Given the description of an element on the screen output the (x, y) to click on. 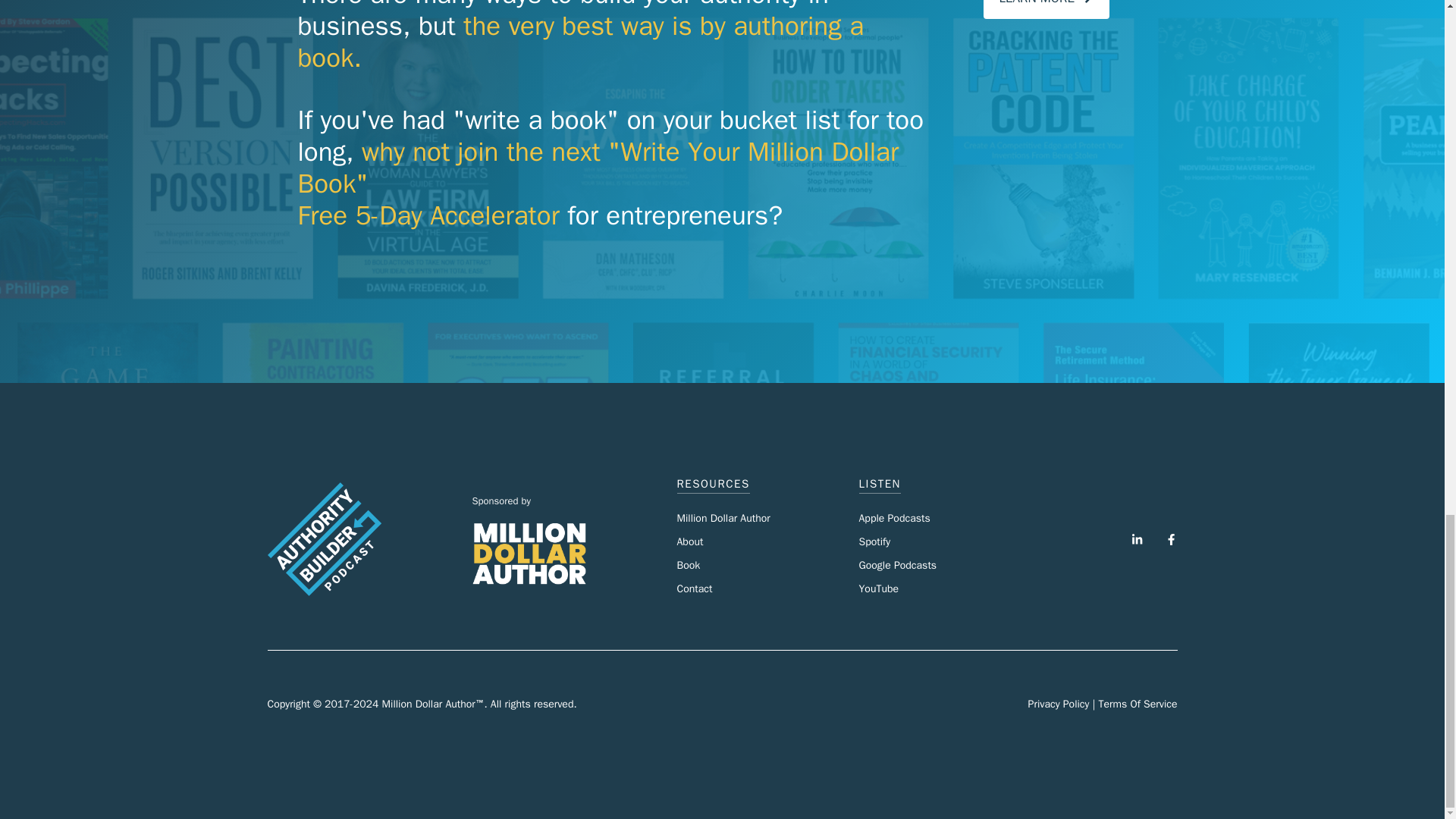
Privacy Policy (1058, 703)
Terms Of Service (1136, 703)
Spotify (874, 541)
About (690, 541)
YouTube (878, 588)
Book (688, 564)
Million Dollar Author (723, 517)
Google Podcasts (897, 564)
Contact (694, 588)
LEARN MORE (1046, 9)
